Given the description of an element on the screen output the (x, y) to click on. 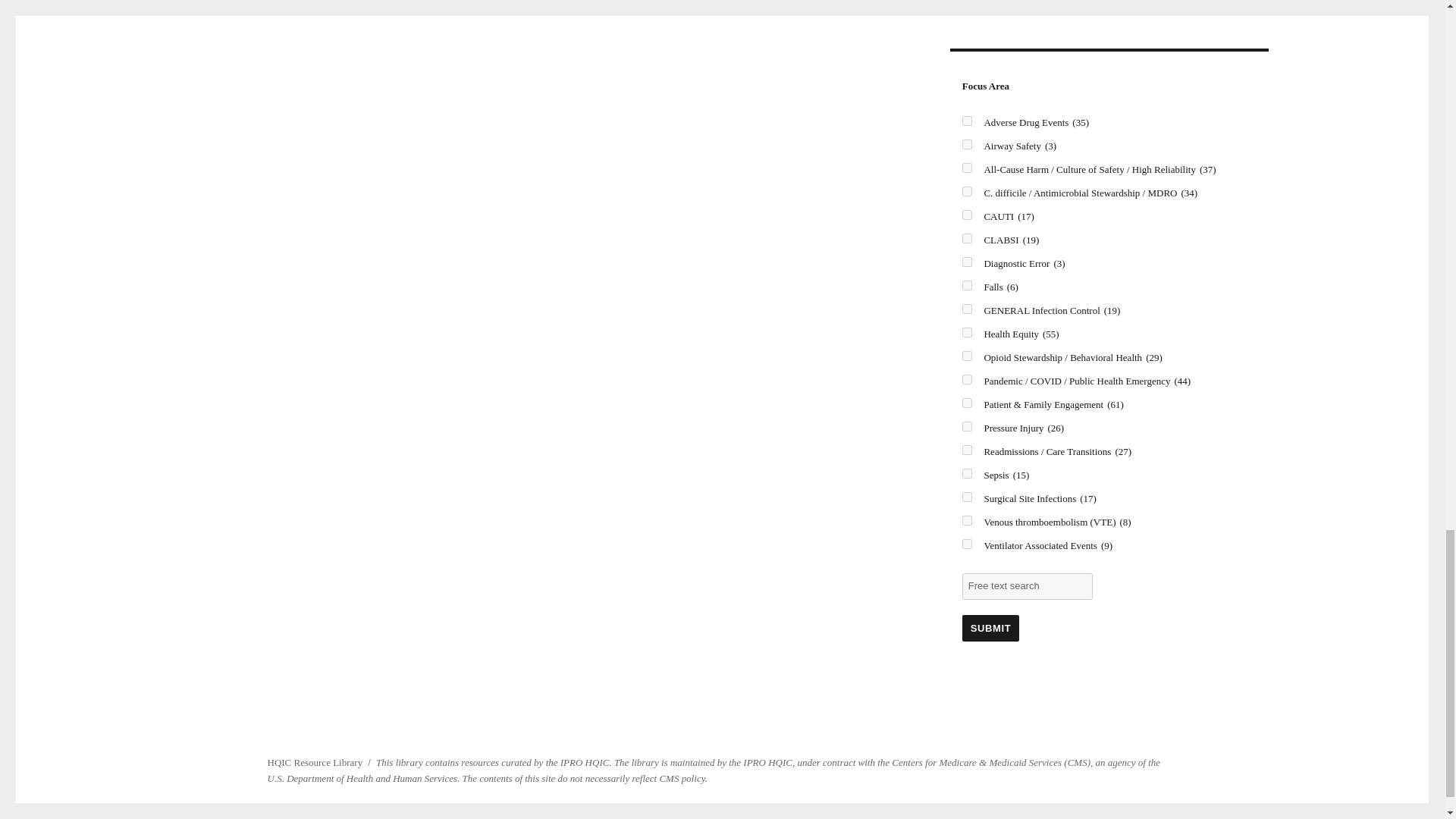
Airway Safety (967, 144)
Health Equity (967, 332)
CLABSI (967, 238)
Pressure Injury (967, 426)
Sepsis (967, 473)
Diagnostic Error (967, 261)
Ventilator Associated Events (967, 543)
Adverse Drug Events (967, 121)
Falls (967, 285)
Surgical Site Infections (967, 497)
